Given the description of an element on the screen output the (x, y) to click on. 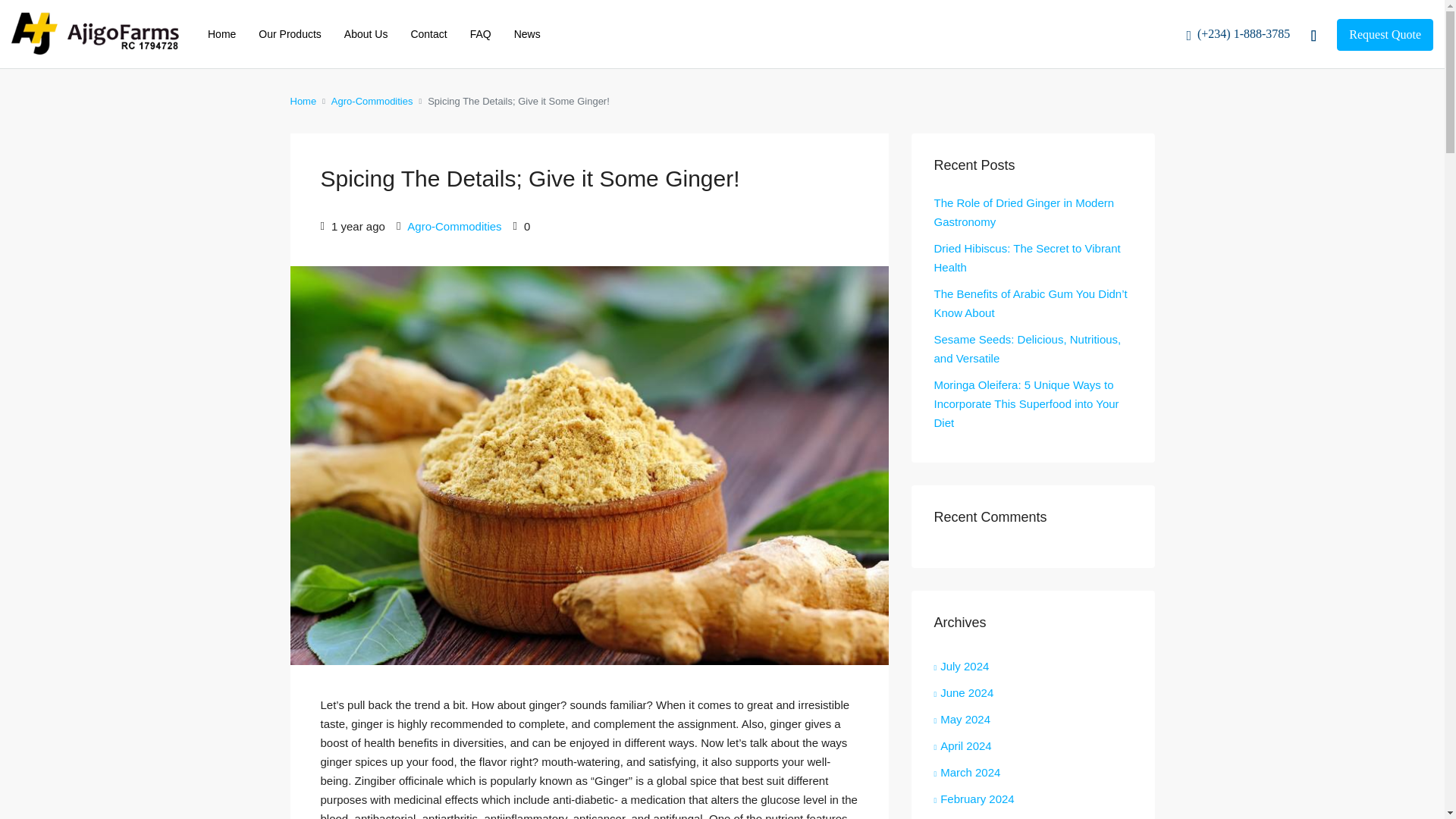
Home (221, 33)
Contact (428, 33)
Home (302, 100)
Agro-Commodities (372, 100)
About Us (365, 33)
FAQ (480, 33)
Our Products (289, 33)
Agro-Commodities (453, 226)
Request Quote (1384, 34)
News (526, 33)
